Given the description of an element on the screen output the (x, y) to click on. 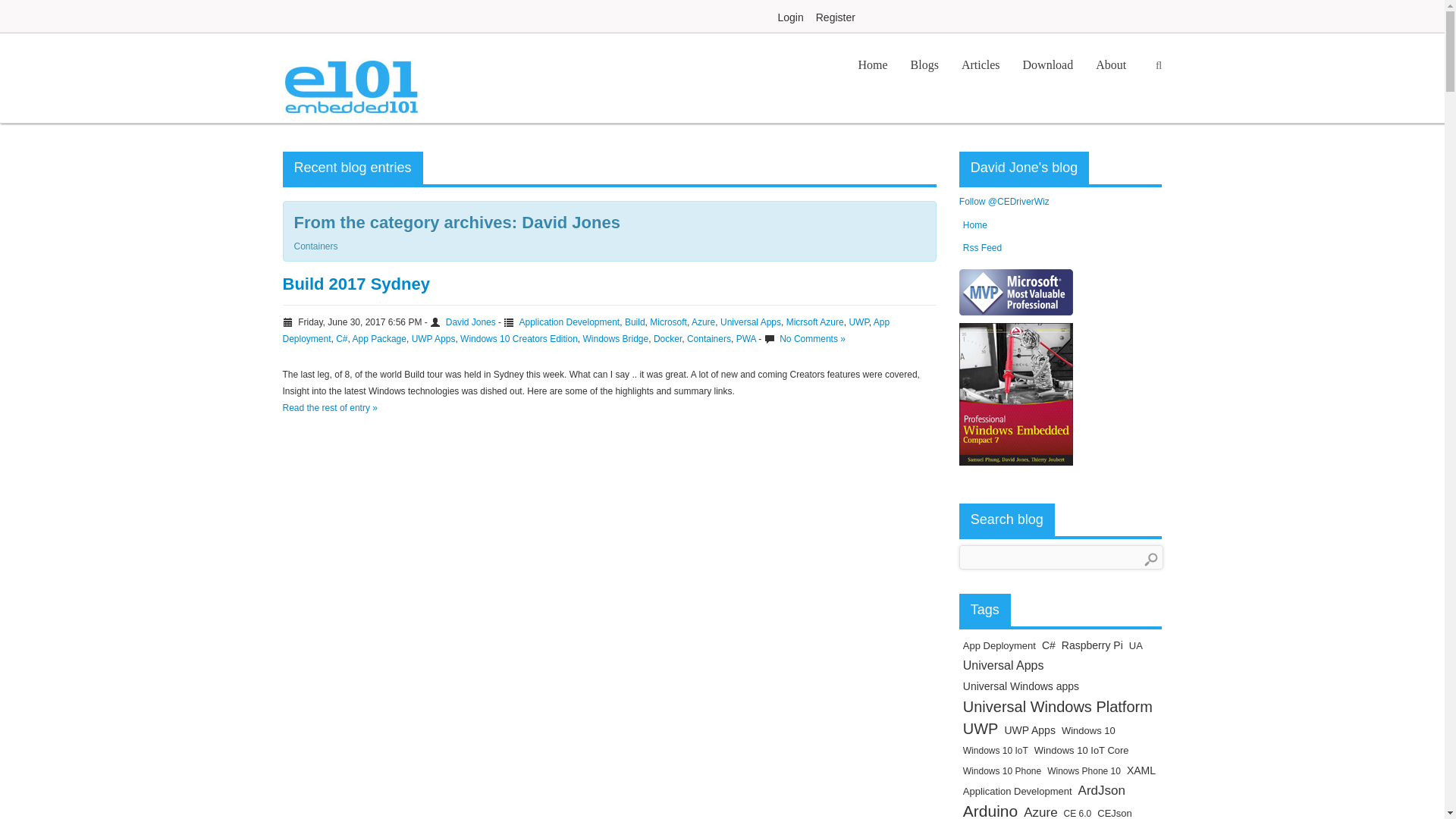
Application Development (569, 321)
Windows Bridge (616, 338)
View all posts in App Package (379, 338)
Login (790, 16)
Register (835, 16)
Build 2017 Sydney (355, 283)
View all posts in UWP (857, 321)
UWP (857, 321)
Embedded101 (350, 77)
Docker (667, 338)
View all posts in Application Development (569, 321)
PWA (745, 338)
Build (634, 321)
View all posts in Build (634, 321)
Download (1048, 65)
